Given the description of an element on the screen output the (x, y) to click on. 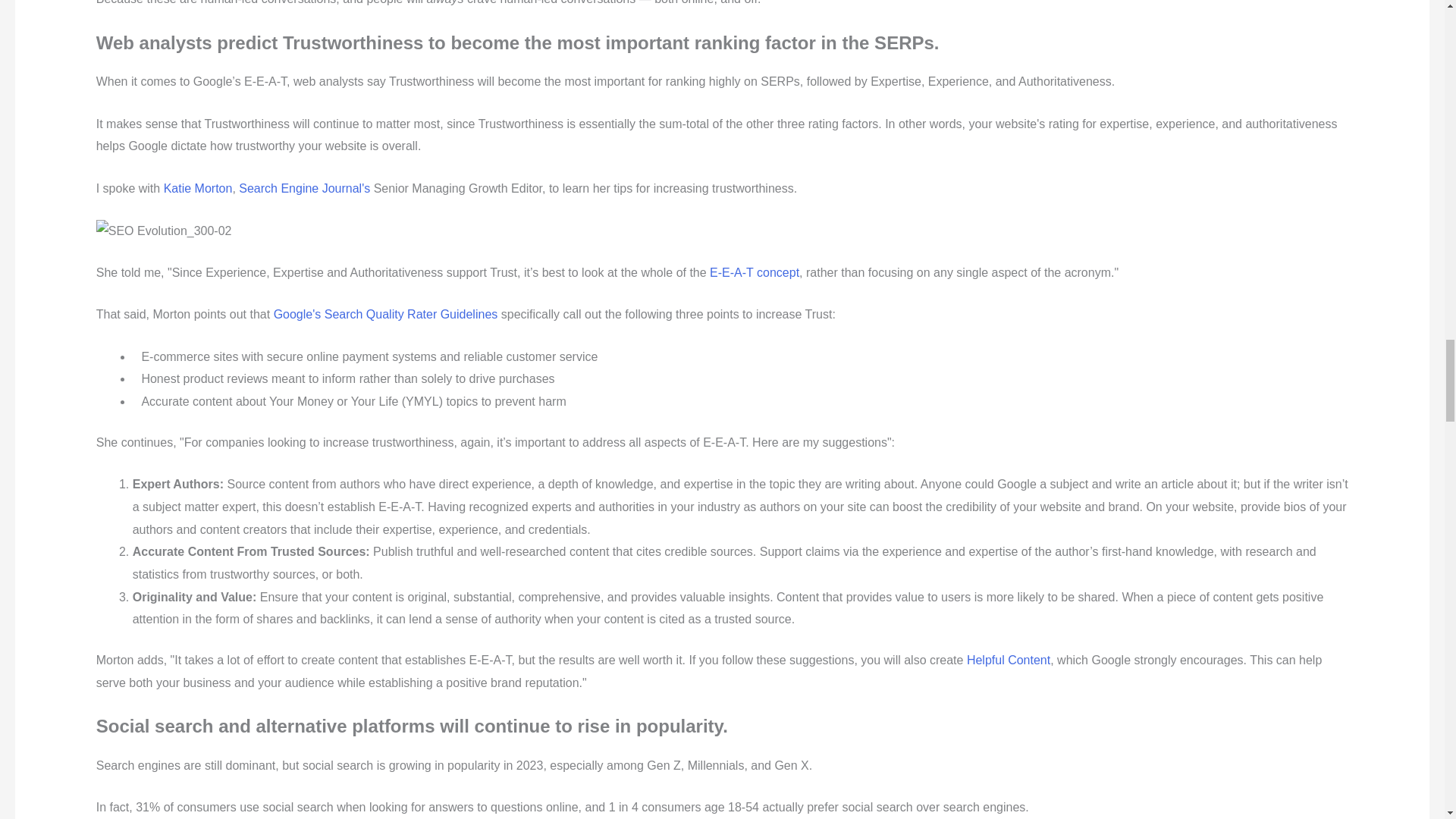
Katie Morton (197, 187)
Search Engine Journal's (303, 187)
Google's Search Quality Rater Guidelines (385, 314)
E-E-A-T concept (754, 272)
Helpful Content (1007, 659)
